Given the description of an element on the screen output the (x, y) to click on. 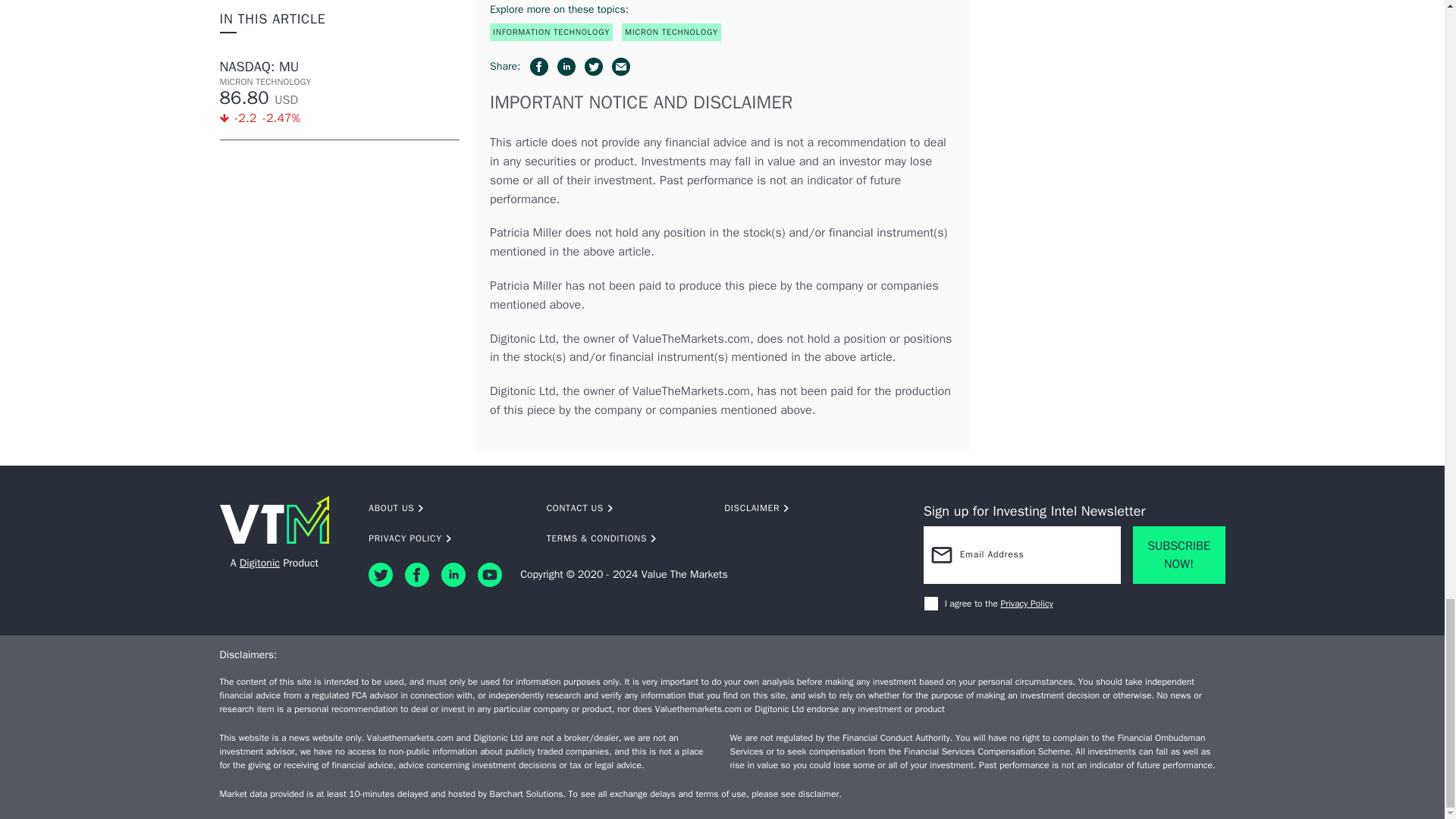
MICRON TECHNOLOGY (670, 31)
INFORMATION TECHNOLOGY (550, 31)
Yes (931, 603)
